Given the description of an element on the screen output the (x, y) to click on. 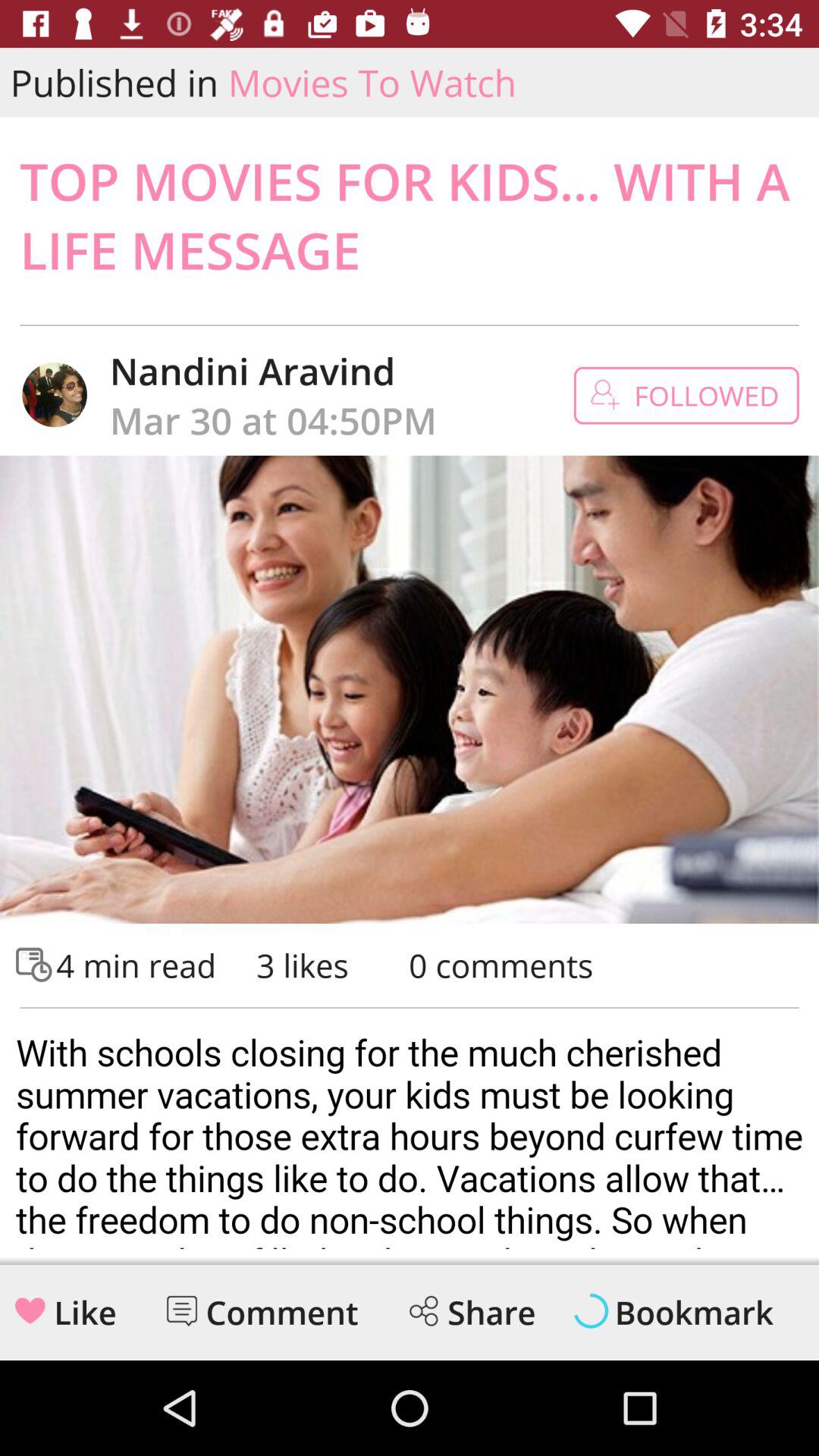
like (30, 1310)
